Given the description of an element on the screen output the (x, y) to click on. 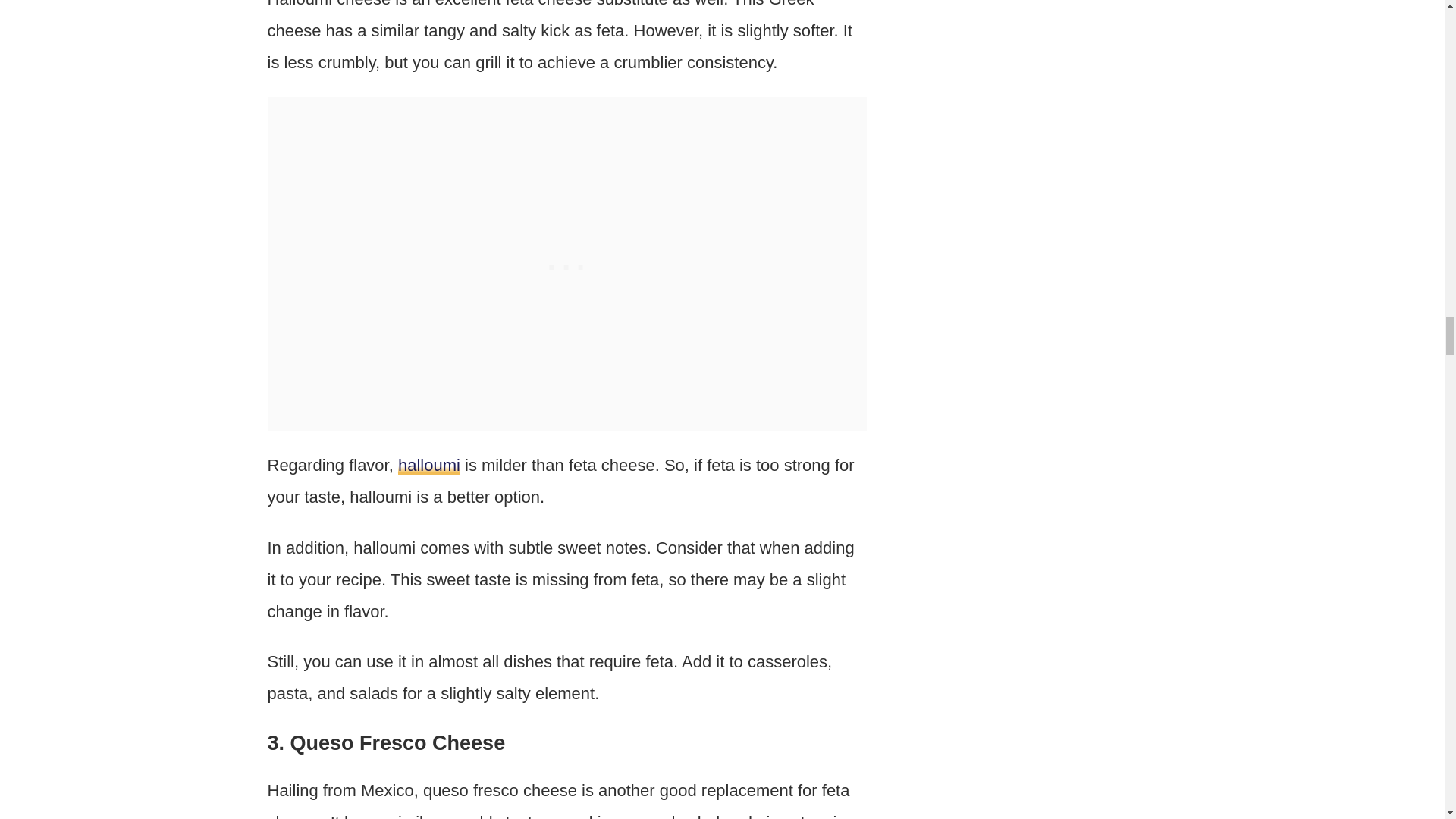
halloumi (428, 465)
